Given the description of an element on the screen output the (x, y) to click on. 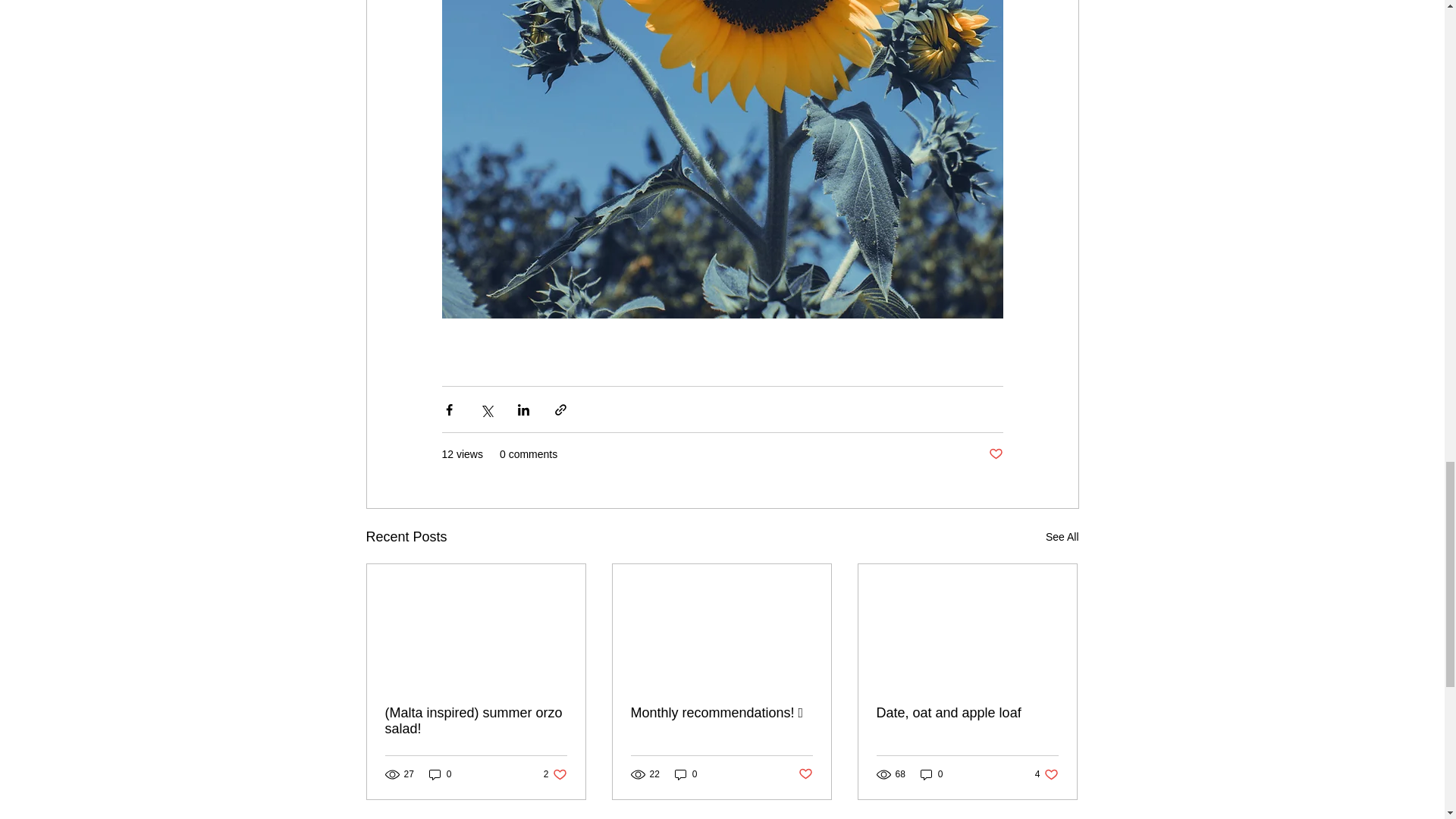
Post not marked as liked (995, 454)
